Given the description of an element on the screen output the (x, y) to click on. 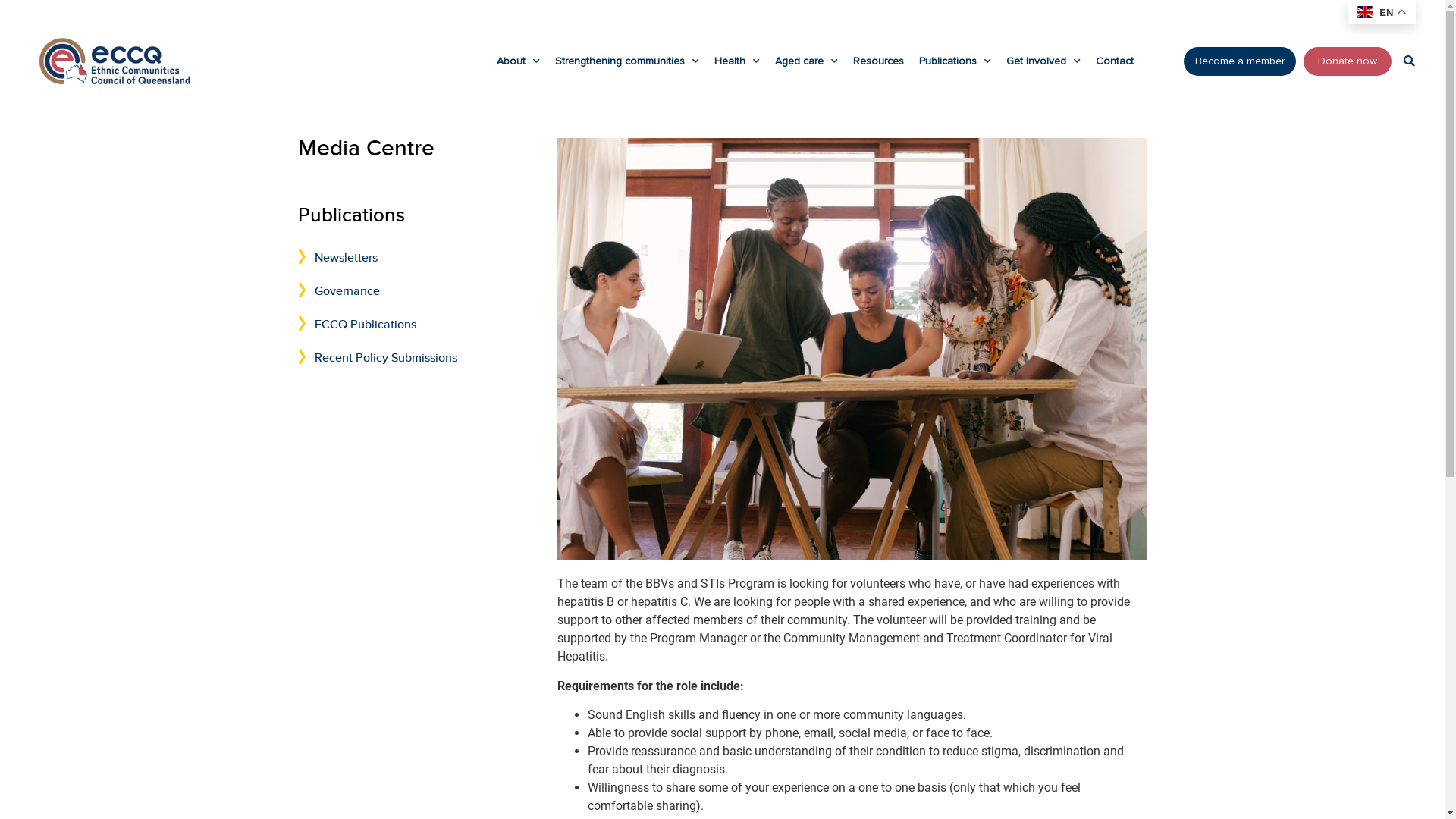
Health Element type: text (736, 60)
Contact Element type: text (1114, 60)
Media Centre Element type: text (365, 148)
Become a member Element type: text (1239, 61)
ECCQ Publications Element type: text (419, 324)
Newsletters Element type: text (419, 257)
Resources Element type: text (878, 60)
Strengthening communities Element type: text (626, 60)
Publications Element type: text (954, 60)
Publications Element type: text (350, 215)
Donate now Element type: text (1347, 61)
Recent Policy Submissions Element type: text (419, 357)
Governance Element type: text (419, 290)
Aged care Element type: text (806, 60)
Get Involved Element type: text (1043, 60)
About Element type: text (518, 60)
